Given the description of an element on the screen output the (x, y) to click on. 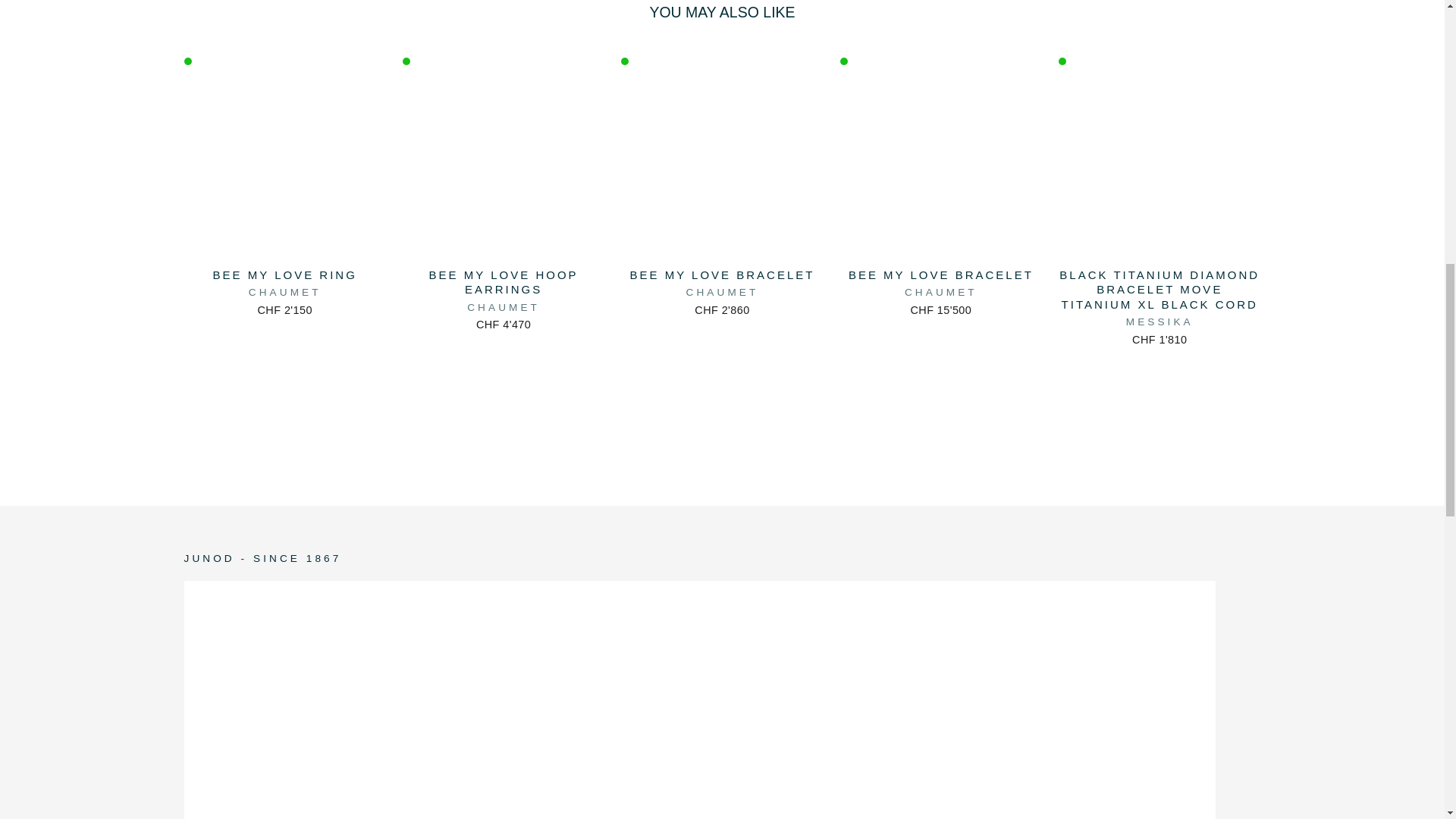
Available (624, 61)
Available (843, 61)
Available (406, 61)
Available (1061, 61)
Available (186, 61)
